Given the description of an element on the screen output the (x, y) to click on. 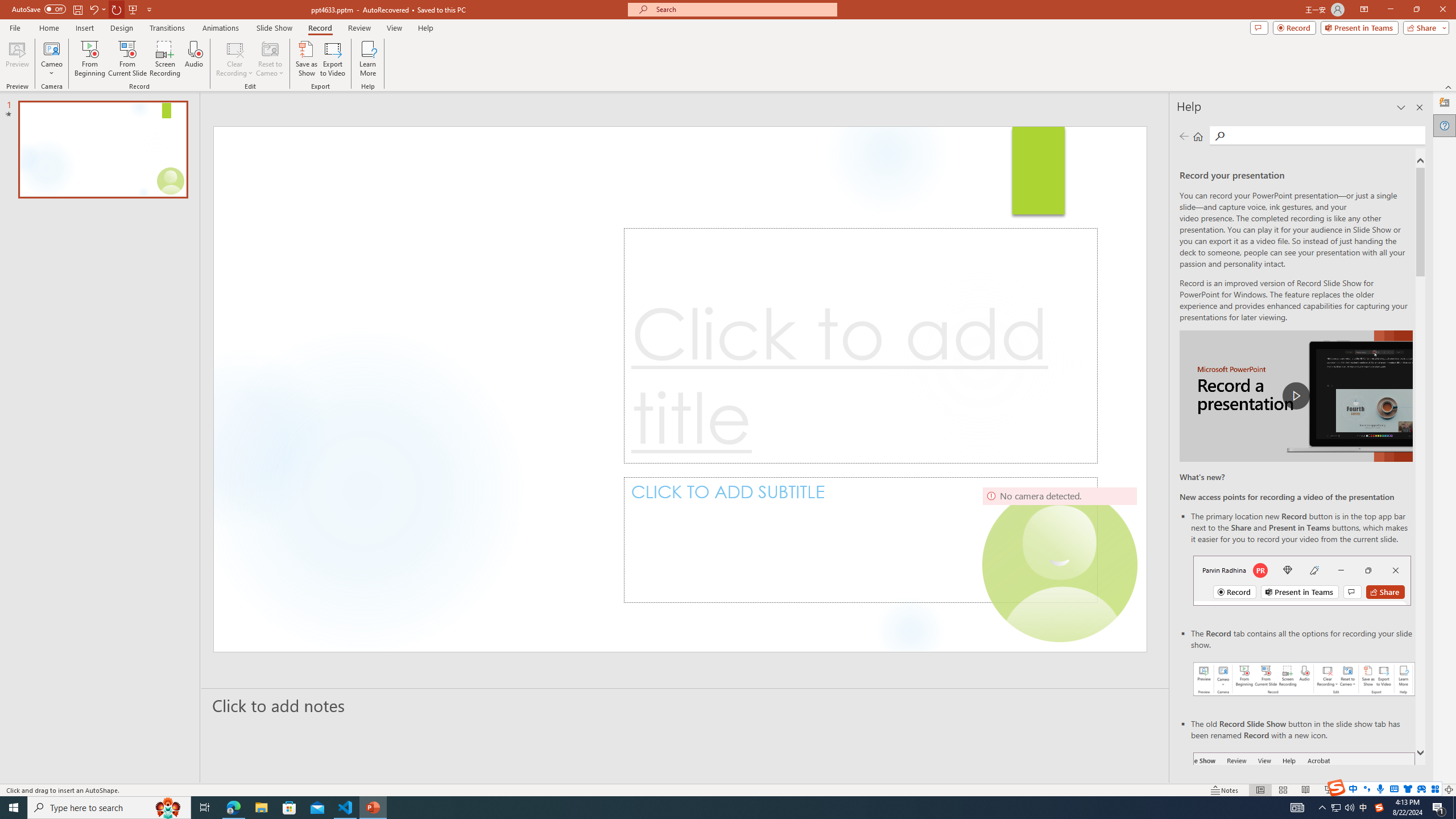
Home (48, 28)
Clear Recording (234, 58)
Animations (220, 28)
Notes  (1225, 790)
More Options (51, 68)
Microsoft search (742, 9)
Zoom 129% (1430, 790)
Search (1325, 135)
Zoom to Fit  (1449, 790)
Class: MsoCommandBar (728, 789)
From Beginning... (89, 58)
Cameo (51, 48)
